Given the description of an element on the screen output the (x, y) to click on. 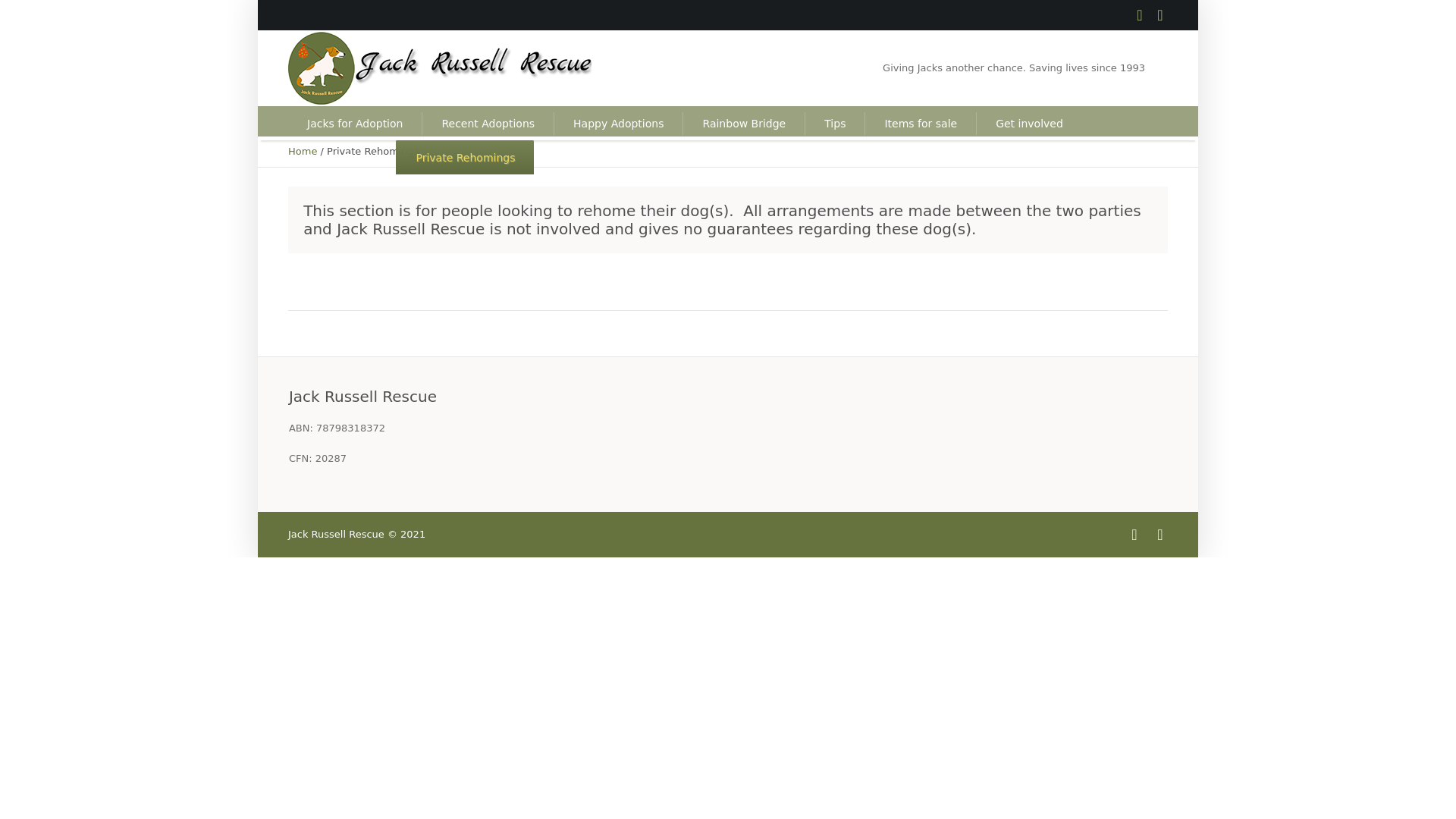
Follow us on facebook (1139, 14)
Follow us on YouTube (1160, 534)
Tips (834, 123)
Recent Adoptions (487, 123)
Items for sale (919, 123)
Get involved (1028, 123)
Home (302, 151)
Happy Adoptions (617, 123)
Jacks for Adoption (355, 123)
Follow us on facebook (1133, 534)
Rainbow Bridge (743, 123)
Private Rehomings (465, 157)
Follow us on YouTube (1160, 14)
